Given the description of an element on the screen output the (x, y) to click on. 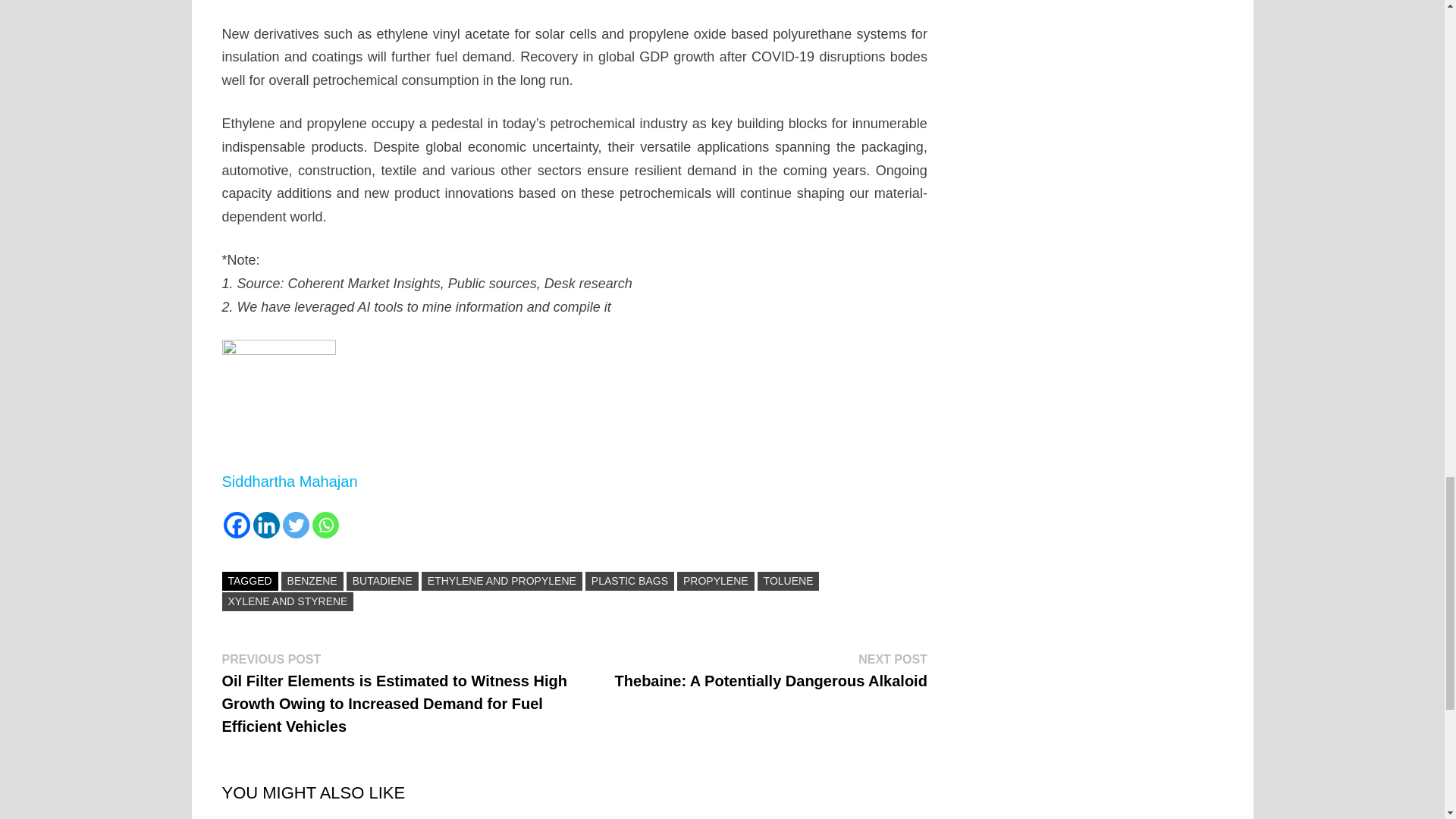
Twitter (295, 524)
Linkedin (266, 524)
Facebook (235, 524)
Whatsapp (326, 524)
